Given the description of an element on the screen output the (x, y) to click on. 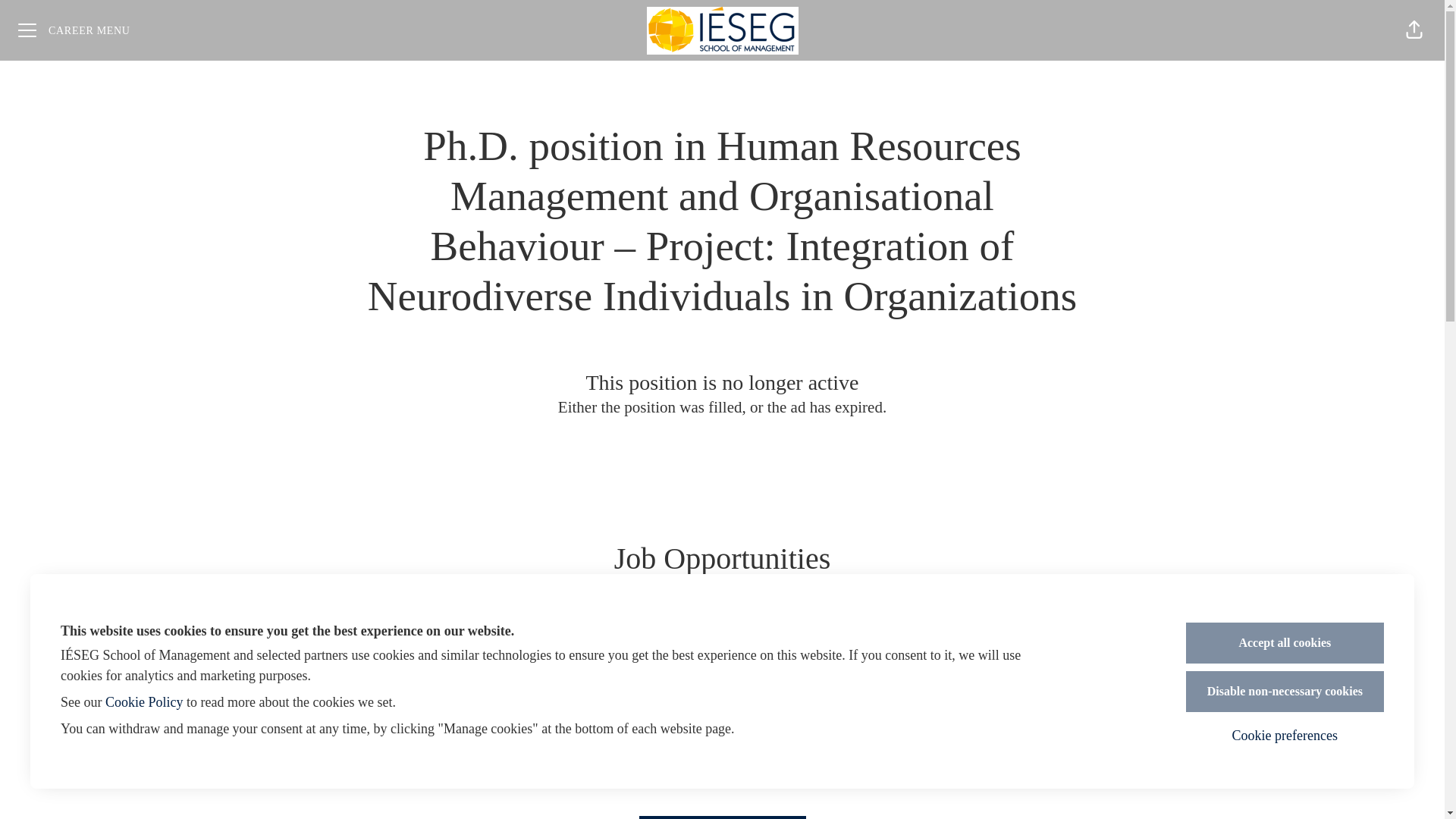
More jobs (722, 817)
Disable non-necessary cookies (1285, 690)
Accept all cookies (1285, 642)
Ph.D.  position on the Economic history of family migration (446, 686)
Cookie Policy (143, 702)
Share page (1414, 30)
CAREER MENU (73, 30)
Cookie preferences (1284, 735)
Career menu (73, 30)
